Given the description of an element on the screen output the (x, y) to click on. 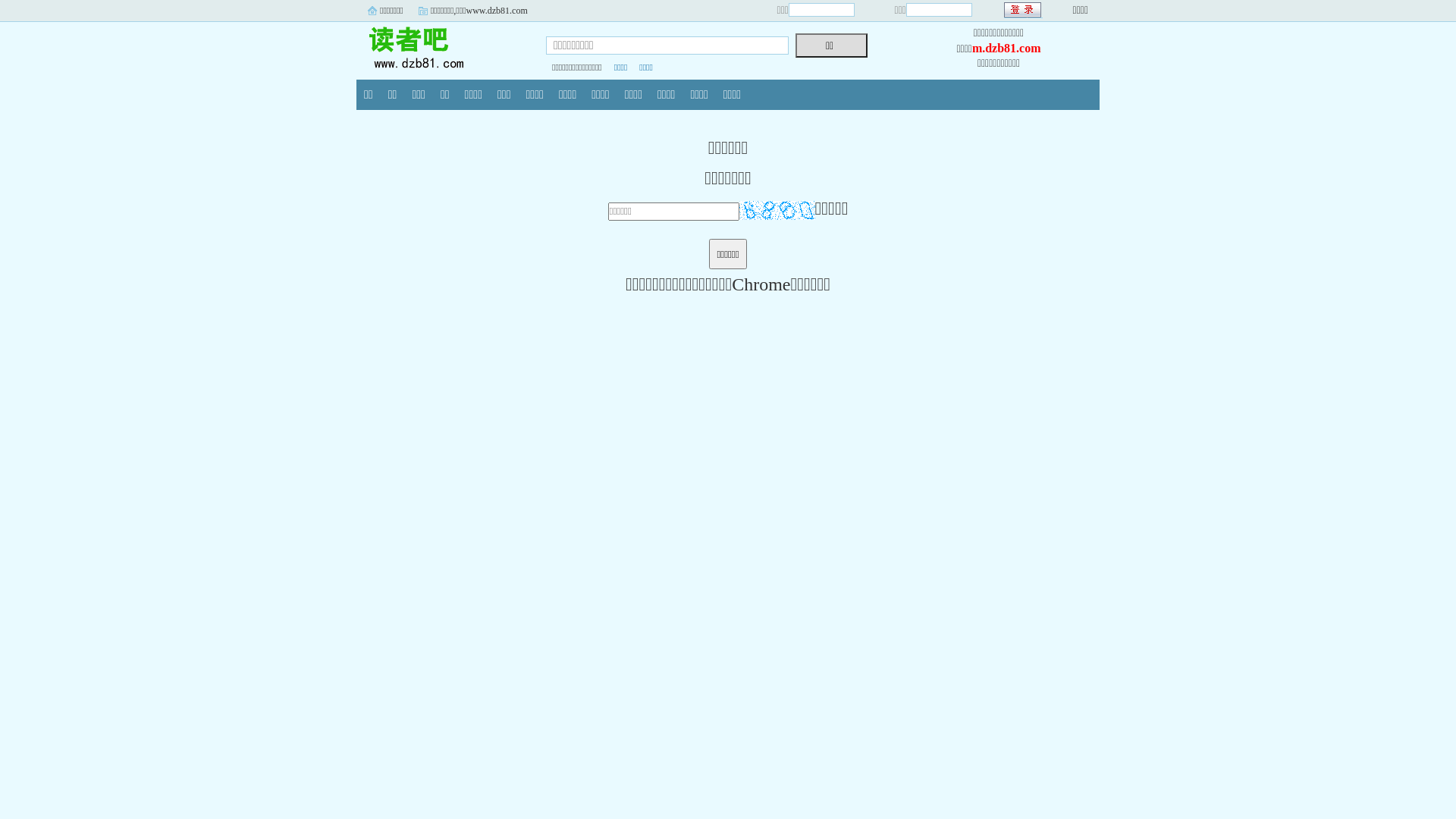
m.dzb81.com Element type: text (1006, 47)
  Element type: text (1023, 10)
